Given the description of an element on the screen output the (x, y) to click on. 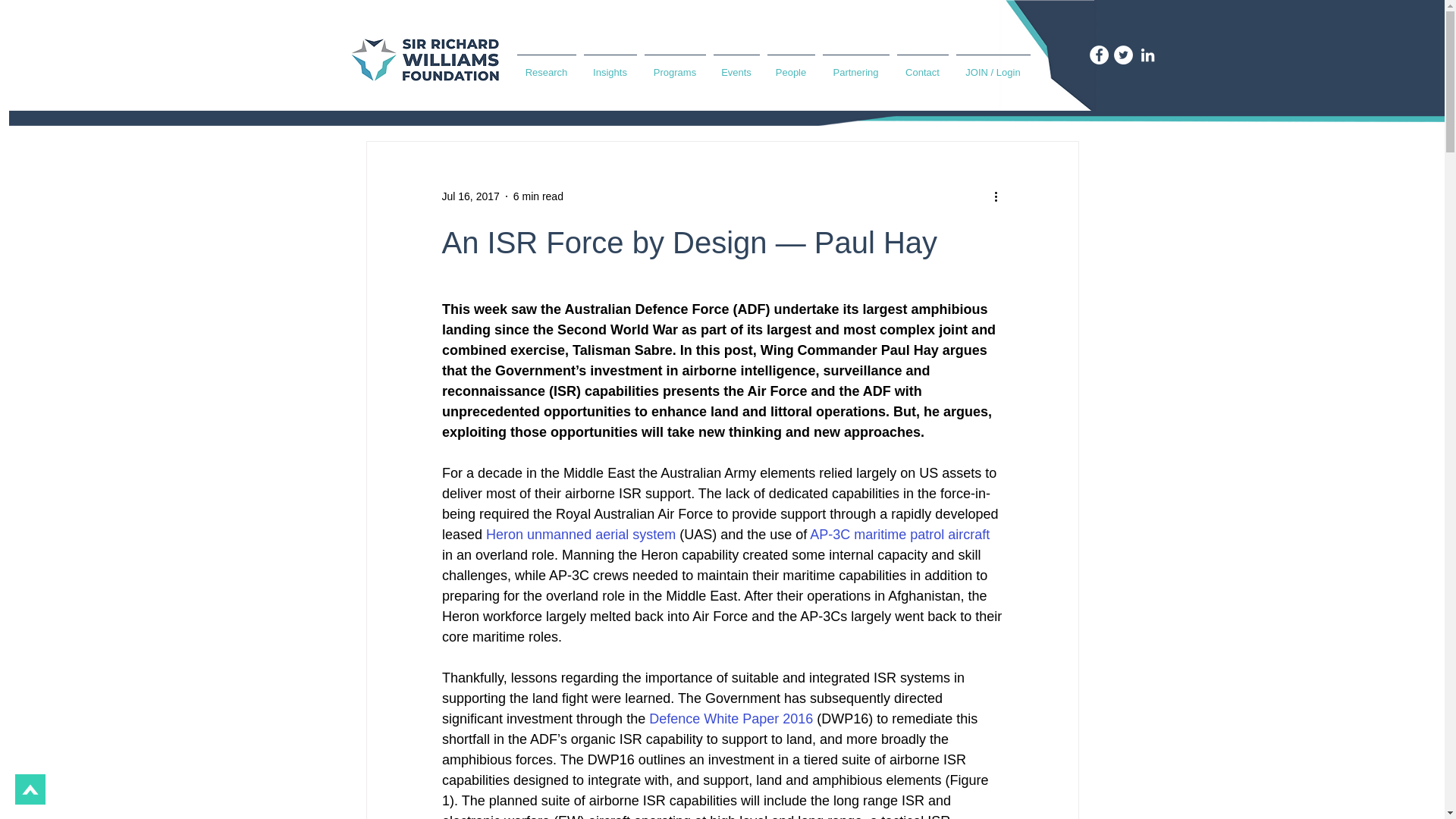
Insights (609, 65)
Jul 16, 2017 (470, 195)
Contact (922, 65)
6 min read (538, 195)
Partnering (855, 65)
Events (736, 65)
People (790, 65)
Programs (674, 65)
Research (545, 65)
Defence White Paper 2016 (730, 718)
